Given the description of an element on the screen output the (x, y) to click on. 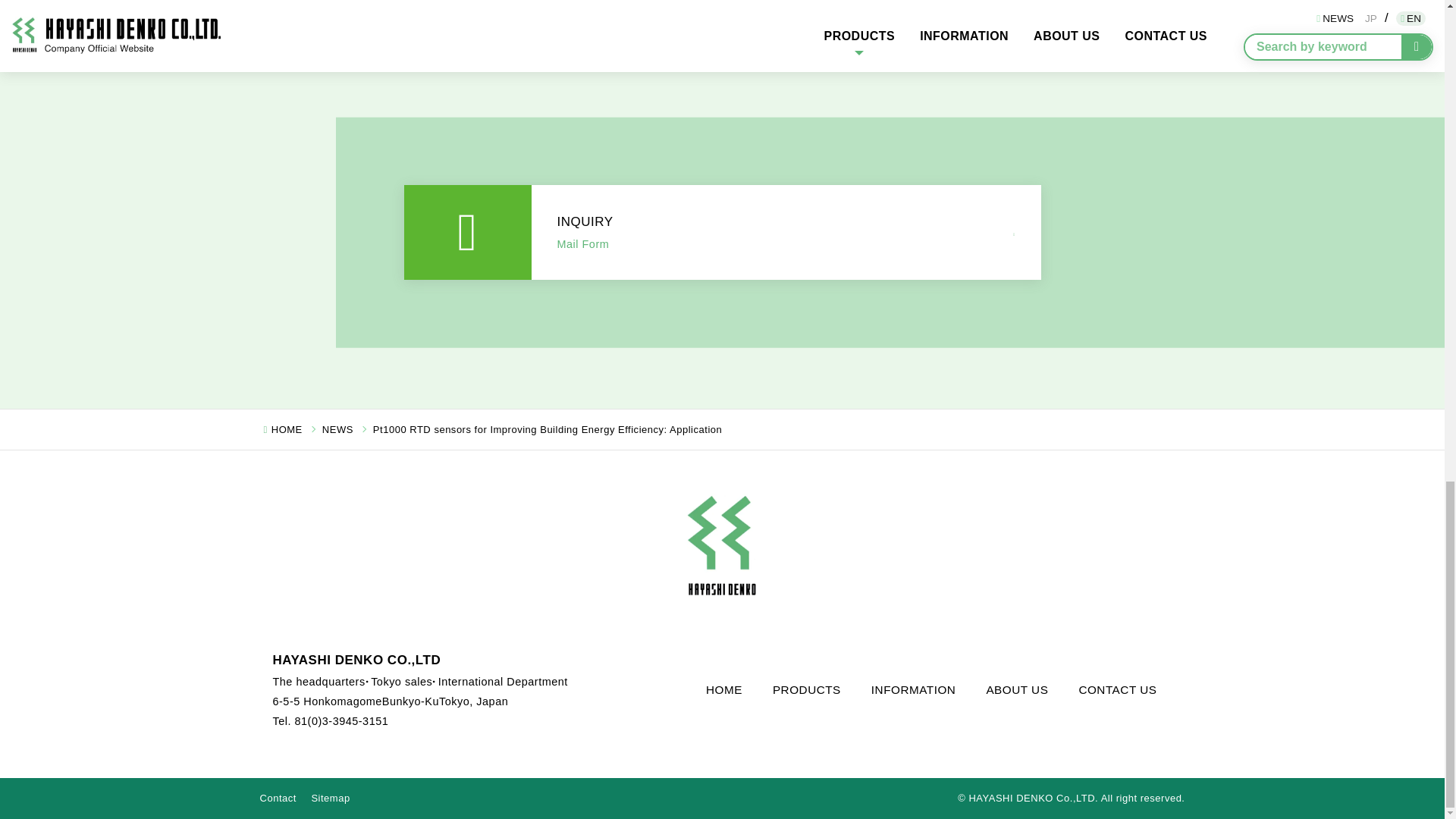
CONTACT US (1117, 689)
HOME (723, 689)
PRODUCTS (806, 689)
HOME (286, 429)
Contact (277, 797)
Sitemap (330, 797)
ABOUT US (1016, 689)
NEWS (337, 429)
INFORMATION (913, 689)
